Given the description of an element on the screen output the (x, y) to click on. 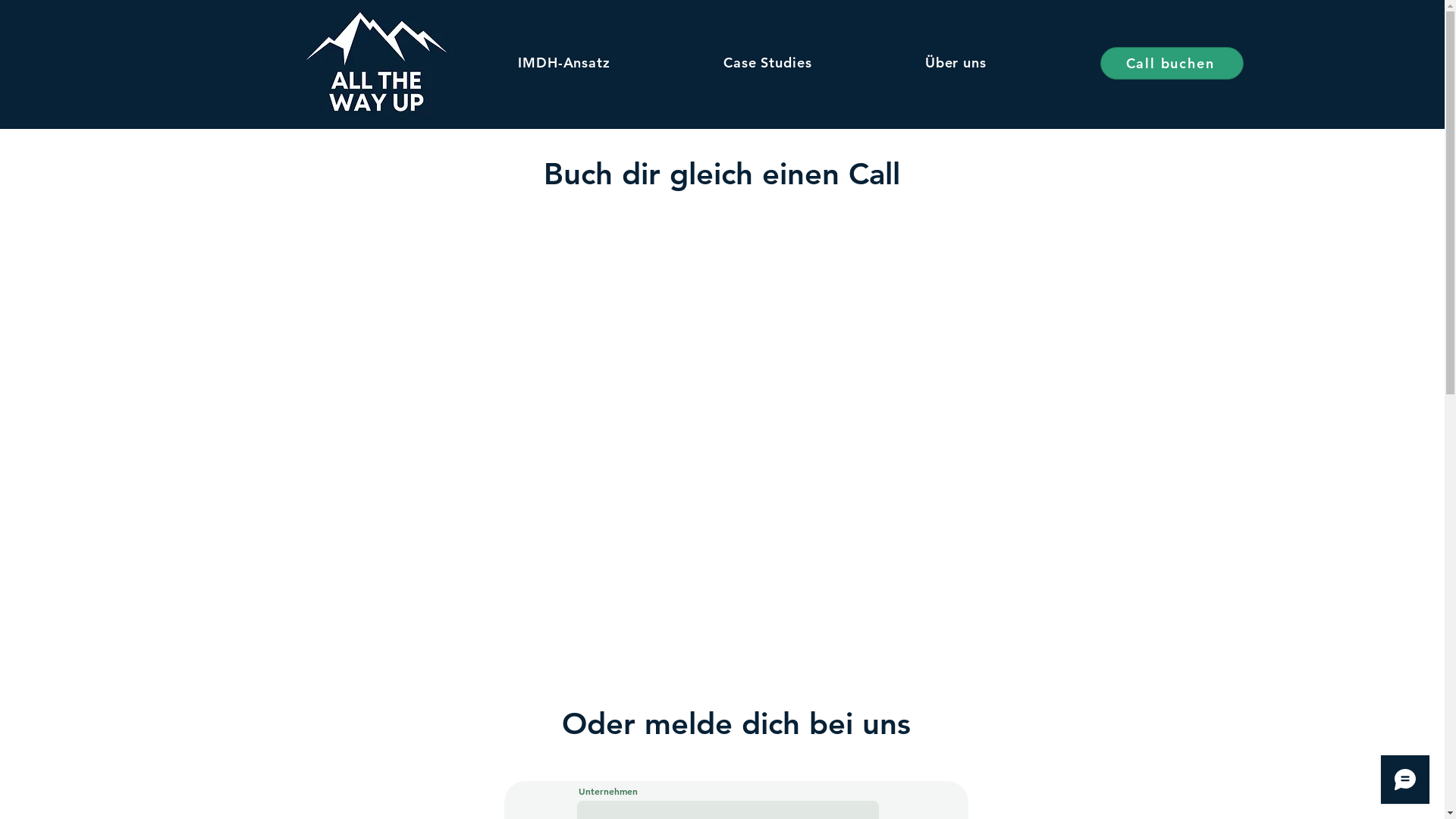
Call buchen Element type: text (1170, 63)
Embedded Content Element type: hover (724, 428)
IMDH-Ansatz Element type: text (563, 62)
Case Studies Element type: text (767, 62)
